Given the description of an element on the screen output the (x, y) to click on. 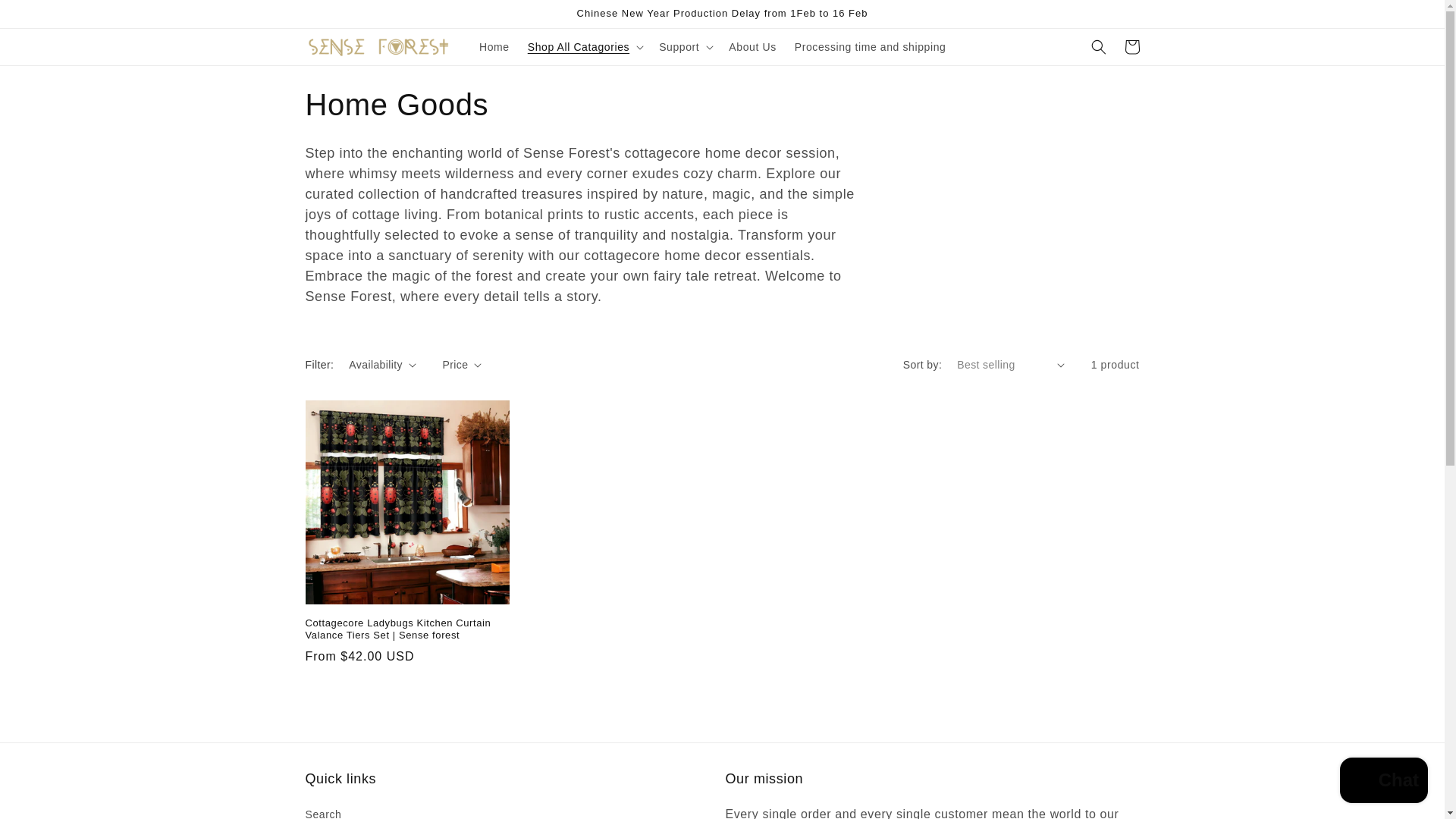
Home (494, 47)
Skip to content (45, 17)
Shopify online store chat (1383, 781)
